Given the description of an element on the screen output the (x, y) to click on. 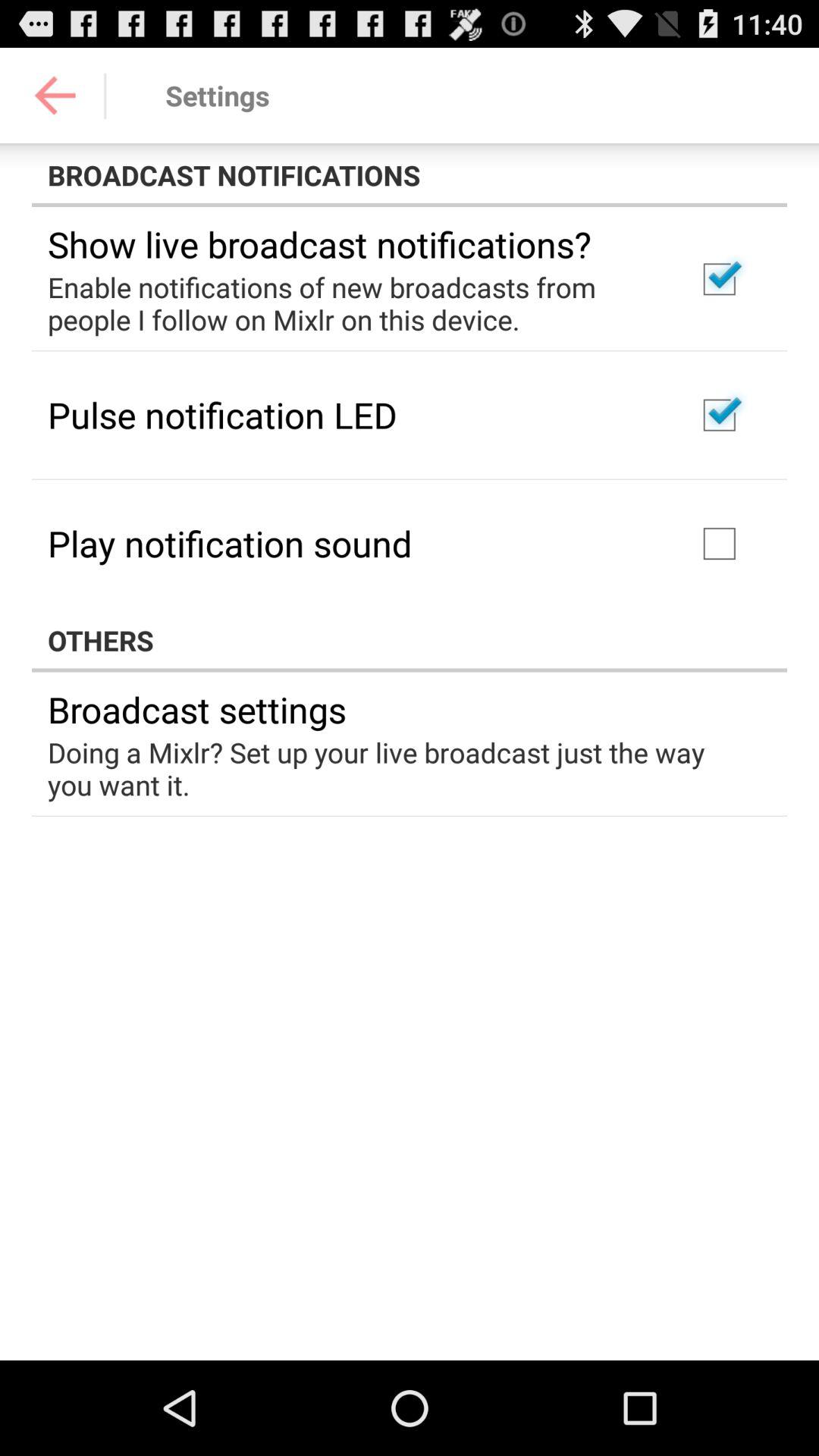
press icon below the enable notifications of app (221, 414)
